Given the description of an element on the screen output the (x, y) to click on. 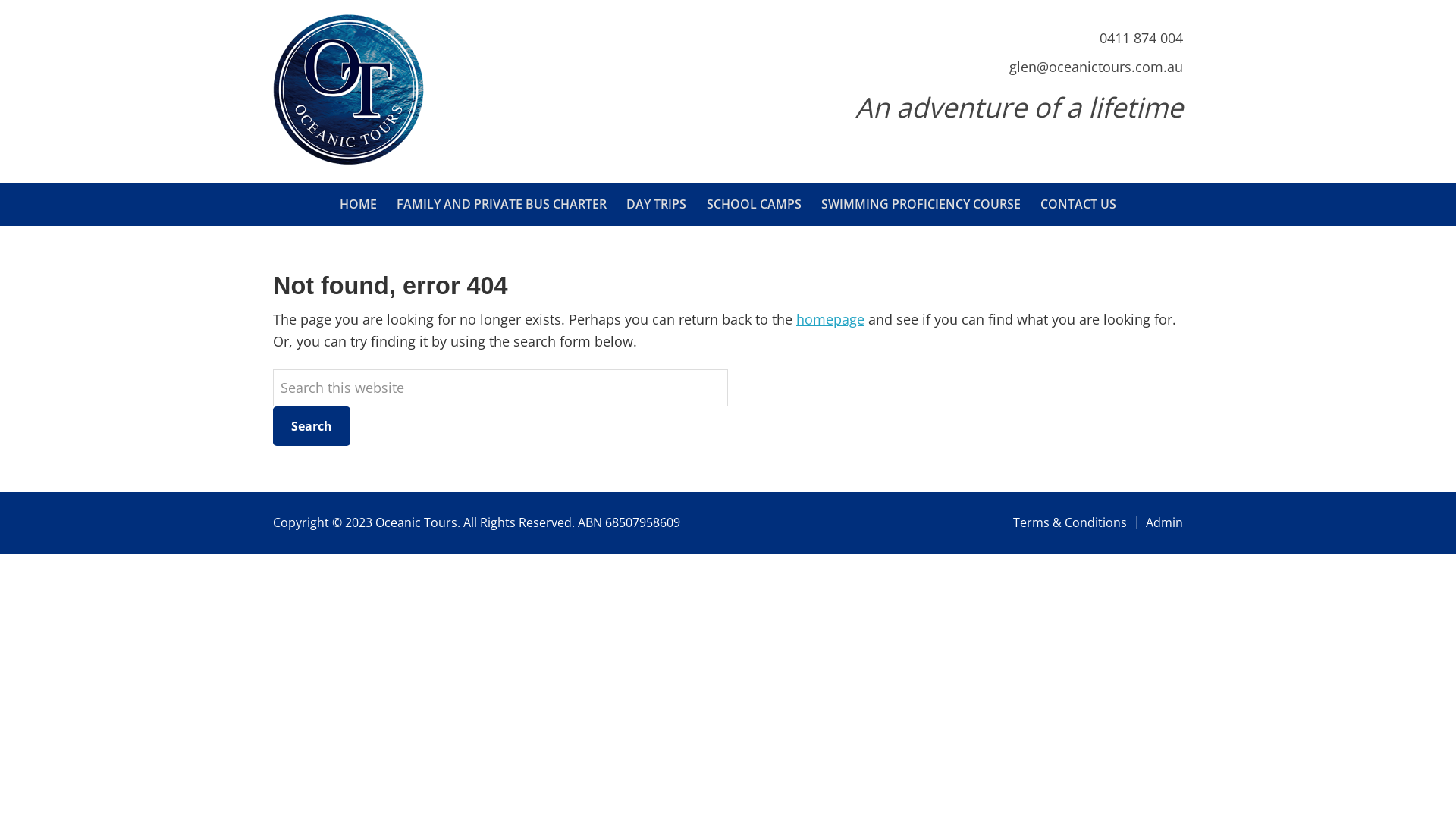
Terms & Conditions Element type: text (1069, 522)
glen@oceanictours.com.au Element type: text (1093, 66)
Oceanic Tours Element type: hover (348, 159)
homepage Element type: text (830, 319)
FAMILY AND PRIVATE BUS CHARTER Element type: text (501, 203)
DAY TRIPS Element type: text (656, 203)
Admin Element type: text (1159, 522)
SCHOOL CAMPS Element type: text (753, 203)
HOME Element type: text (357, 203)
Search Element type: text (311, 425)
0411 874 004 Element type: text (1139, 37)
SWIMMING PROFICIENCY COURSE Element type: text (920, 203)
CONTACT US Element type: text (1078, 203)
Skip to primary navigation Element type: text (0, 0)
